Given the description of an element on the screen output the (x, y) to click on. 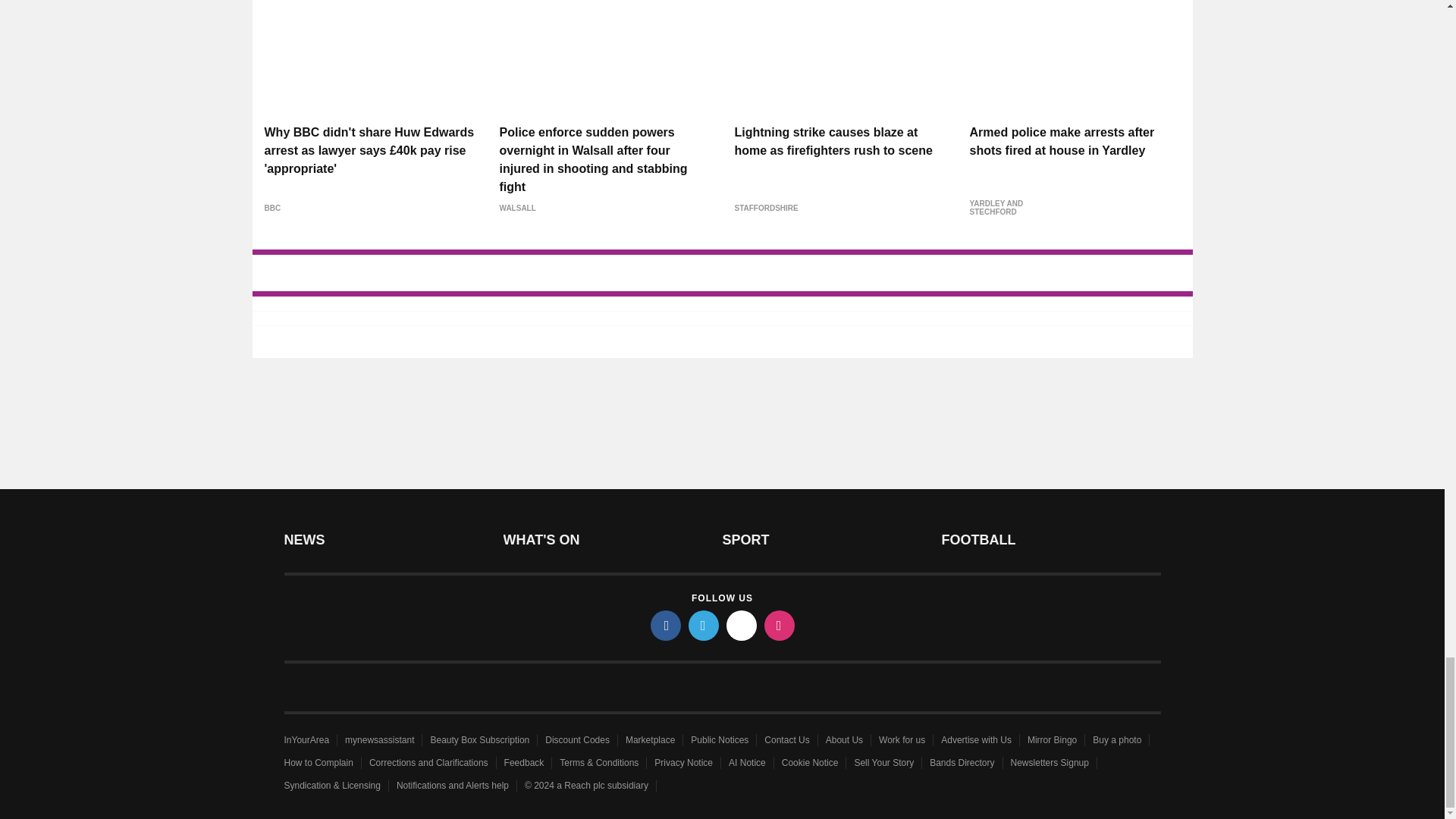
tiktok (741, 625)
instagram (779, 625)
twitter (703, 625)
facebook (665, 625)
